Given the description of an element on the screen output the (x, y) to click on. 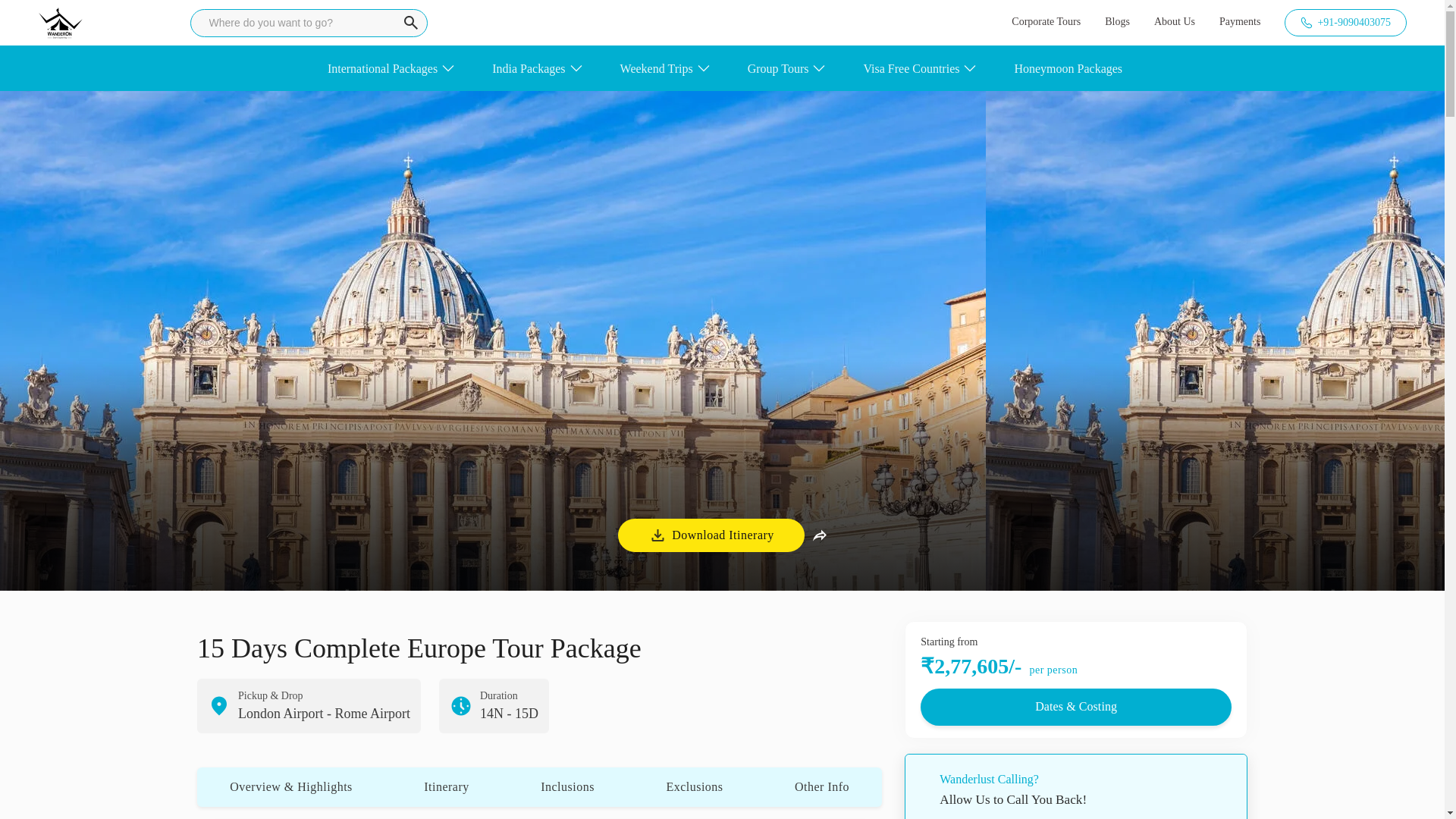
Payments (1240, 22)
International Packages (382, 67)
Blogs (1117, 22)
India Packages (528, 67)
Group Tours (778, 67)
About Us (1174, 22)
Weekend Trips (656, 67)
Corporate Tours (1045, 22)
